Given the description of an element on the screen output the (x, y) to click on. 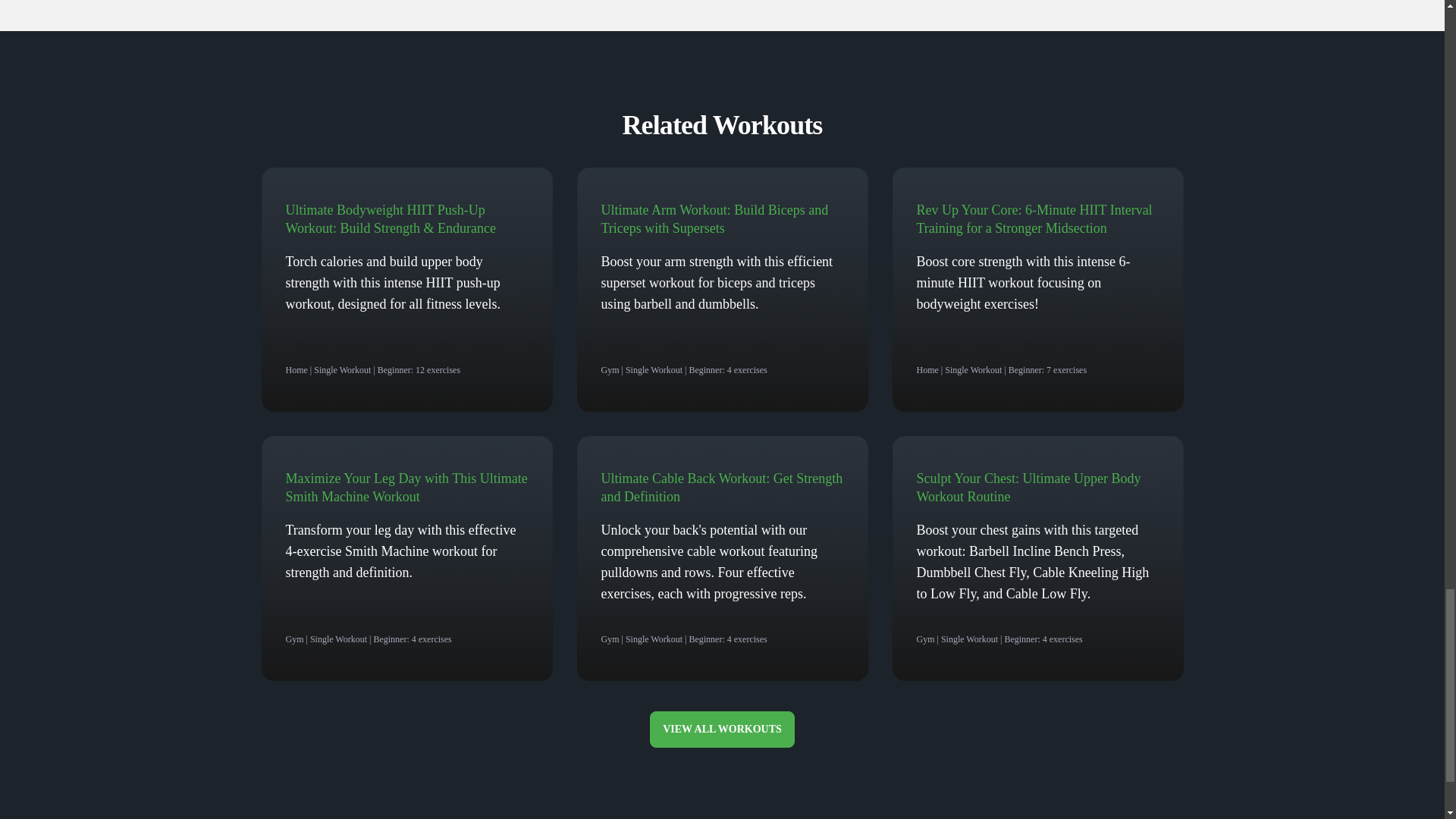
VIEW ALL WORKOUTS (721, 729)
Ultimate Cable Back Workout: Get Strength and Definition (721, 487)
Sculpt Your Chest: Ultimate Upper Body Workout Routine (1027, 487)
